Given the description of an element on the screen output the (x, y) to click on. 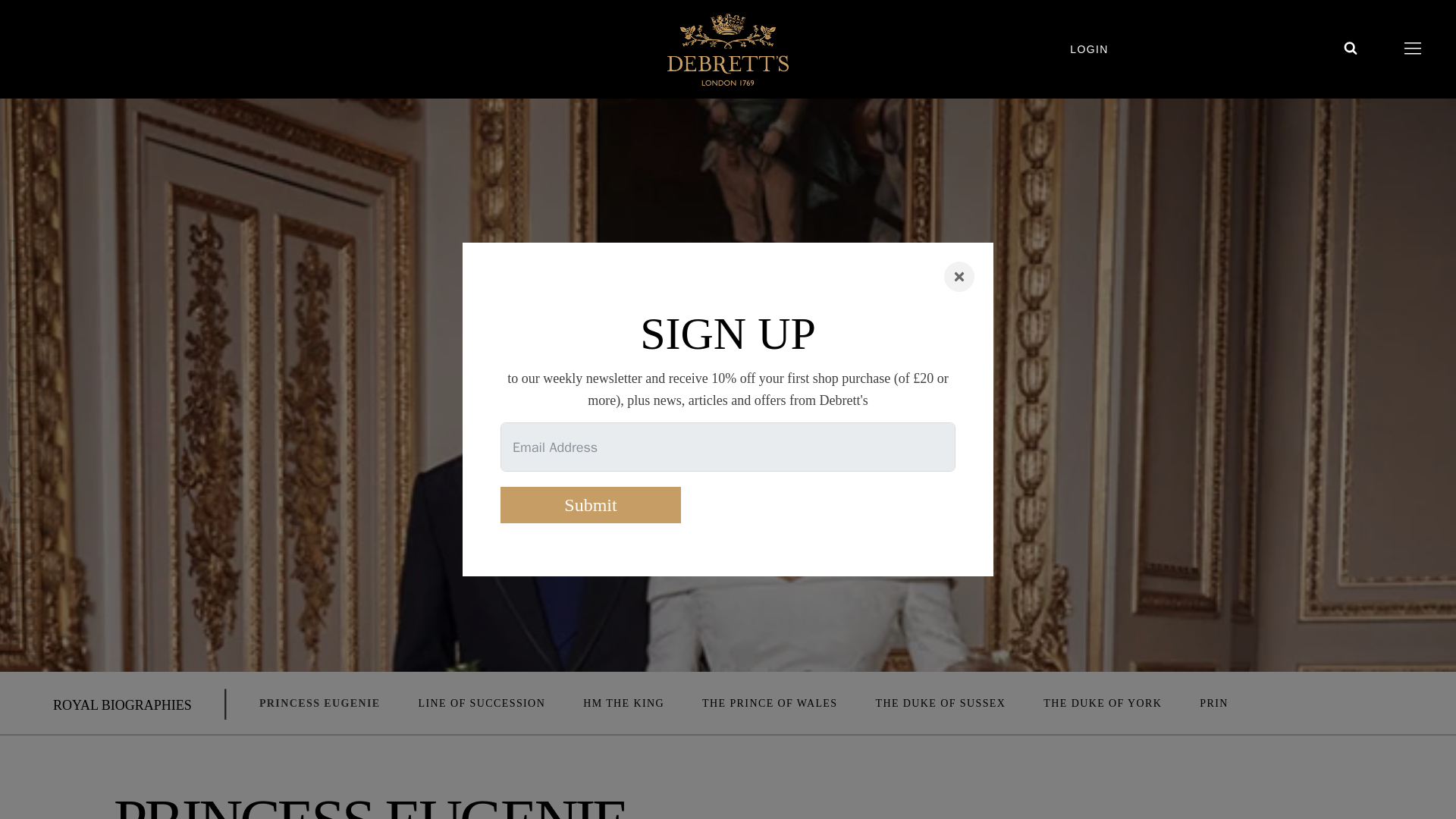
THE PRINCE OF WALES (769, 703)
THE DUKE OF SUSSEX (940, 703)
THE DUKE OF YORK (1102, 703)
LINE OF SUCCESSION (482, 703)
PRINCESS BEATRICE (1259, 703)
LOGIN (1107, 48)
HM THE KING (623, 703)
